Given the description of an element on the screen output the (x, y) to click on. 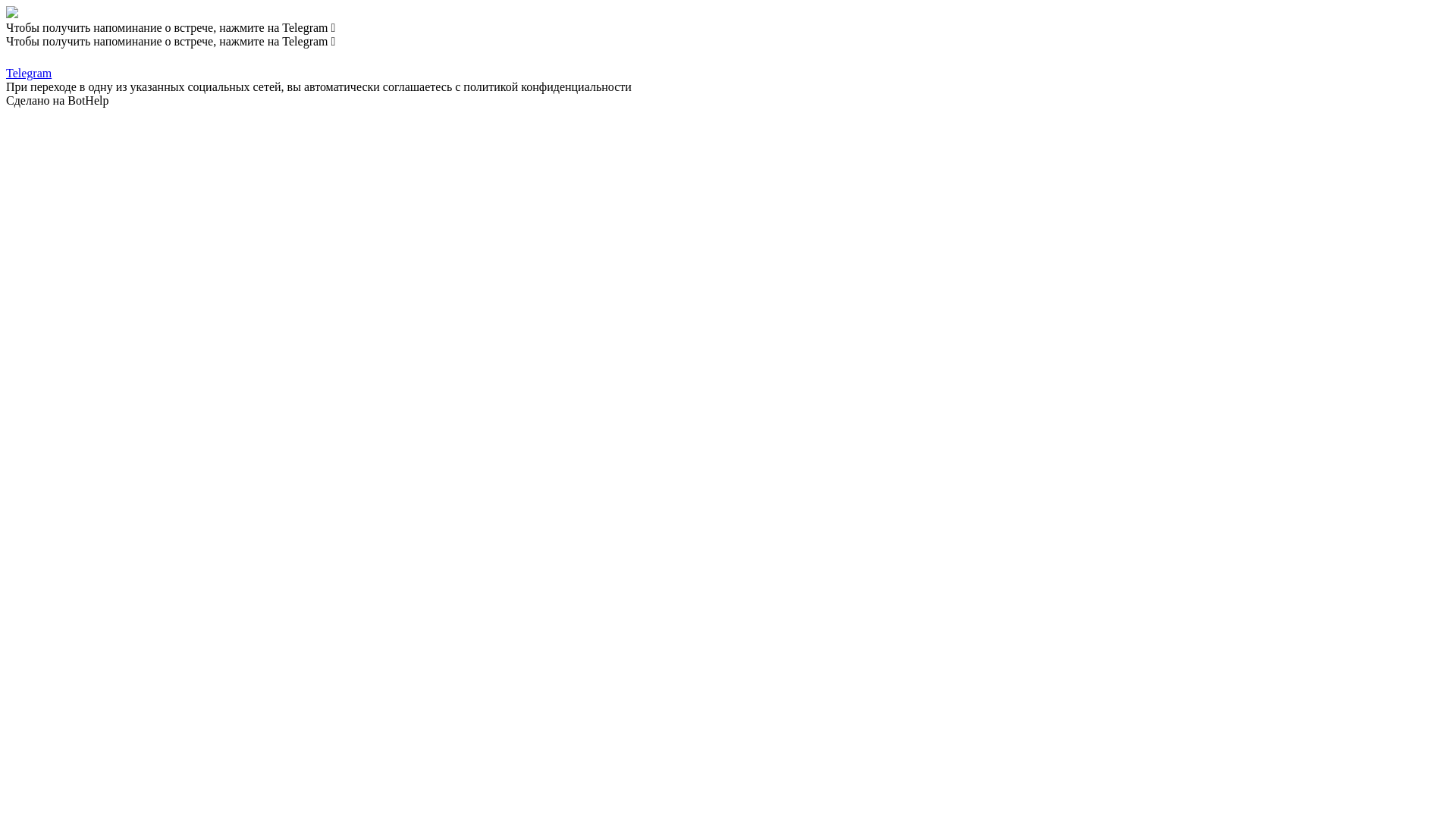
Telegram Element type: text (727, 64)
Telegram Element type: hover (13, 55)
